Given the description of an element on the screen output the (x, y) to click on. 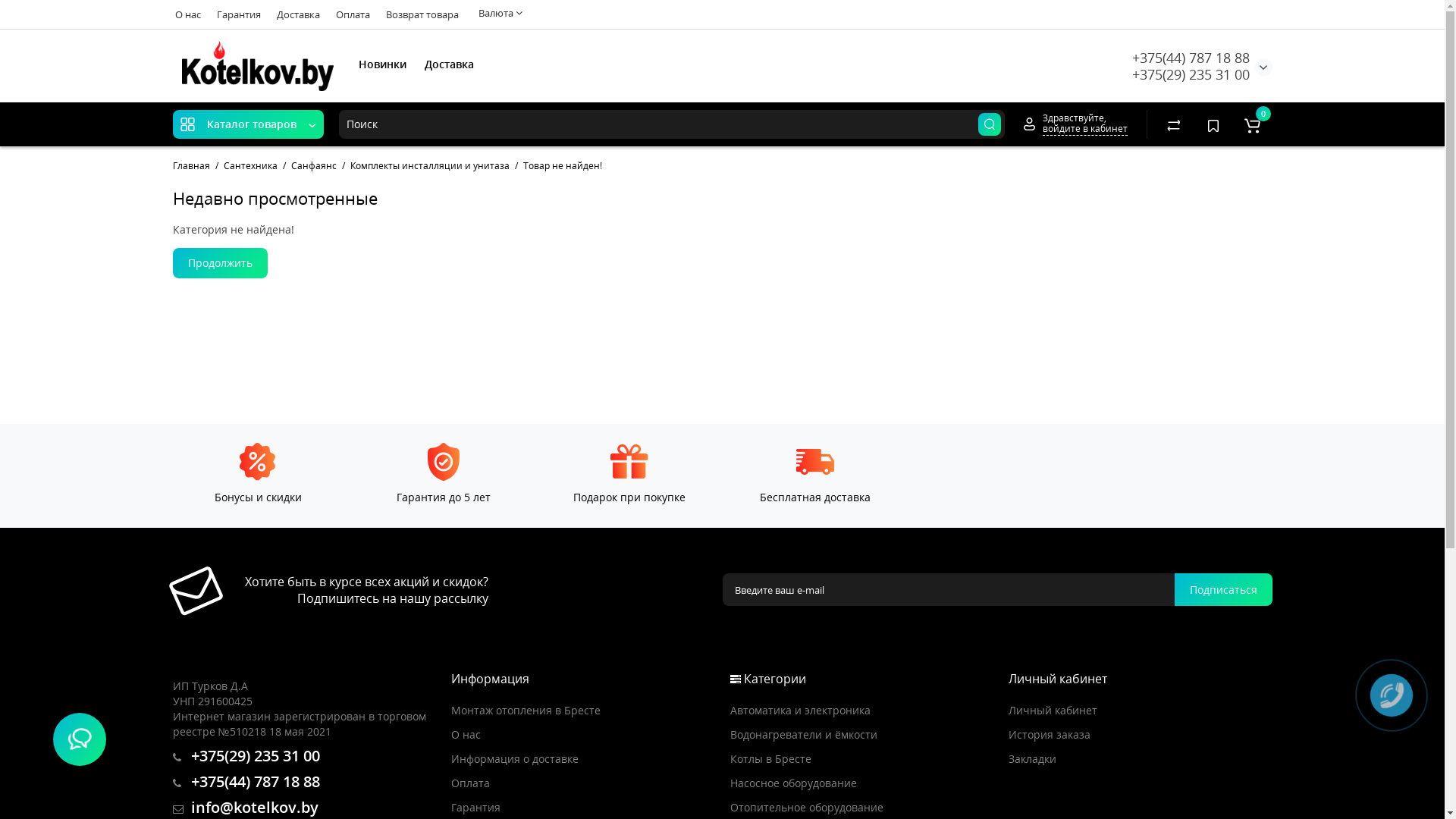
+375(29) 235 31 00 Element type: text (246, 756)
0 Element type: text (1252, 124)
+375(44) 787 18 88 Element type: text (1189, 57)
+375(44) 787 18 88 Element type: text (246, 782)
+375(29) 235 31 00 Element type: text (1189, 74)
info@kotelkov.by Element type: text (245, 808)
